Given the description of an element on the screen output the (x, y) to click on. 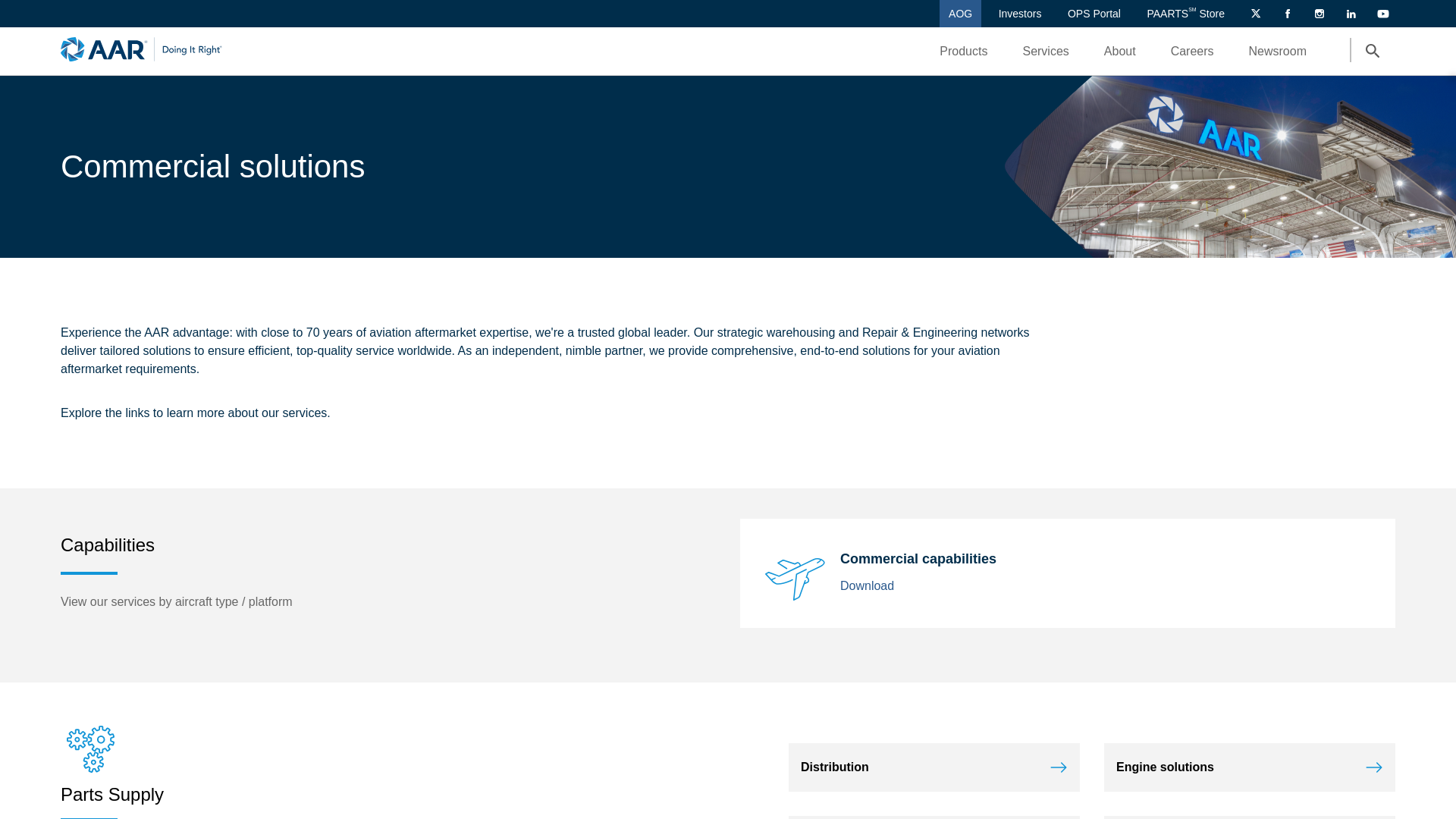
Investors (1020, 13)
Facebook (1283, 13)
Services (1055, 50)
OPS Portal (1093, 13)
About (1129, 50)
LinkedIn (1347, 13)
PAARTSSM Store (1185, 13)
Newsroom (1287, 50)
Commercial (794, 572)
Instagram (1315, 13)
OPS Portal (1093, 13)
Careers (1192, 51)
Careers (1202, 50)
X (1252, 13)
Gears icon (90, 749)
